Given the description of an element on the screen output the (x, y) to click on. 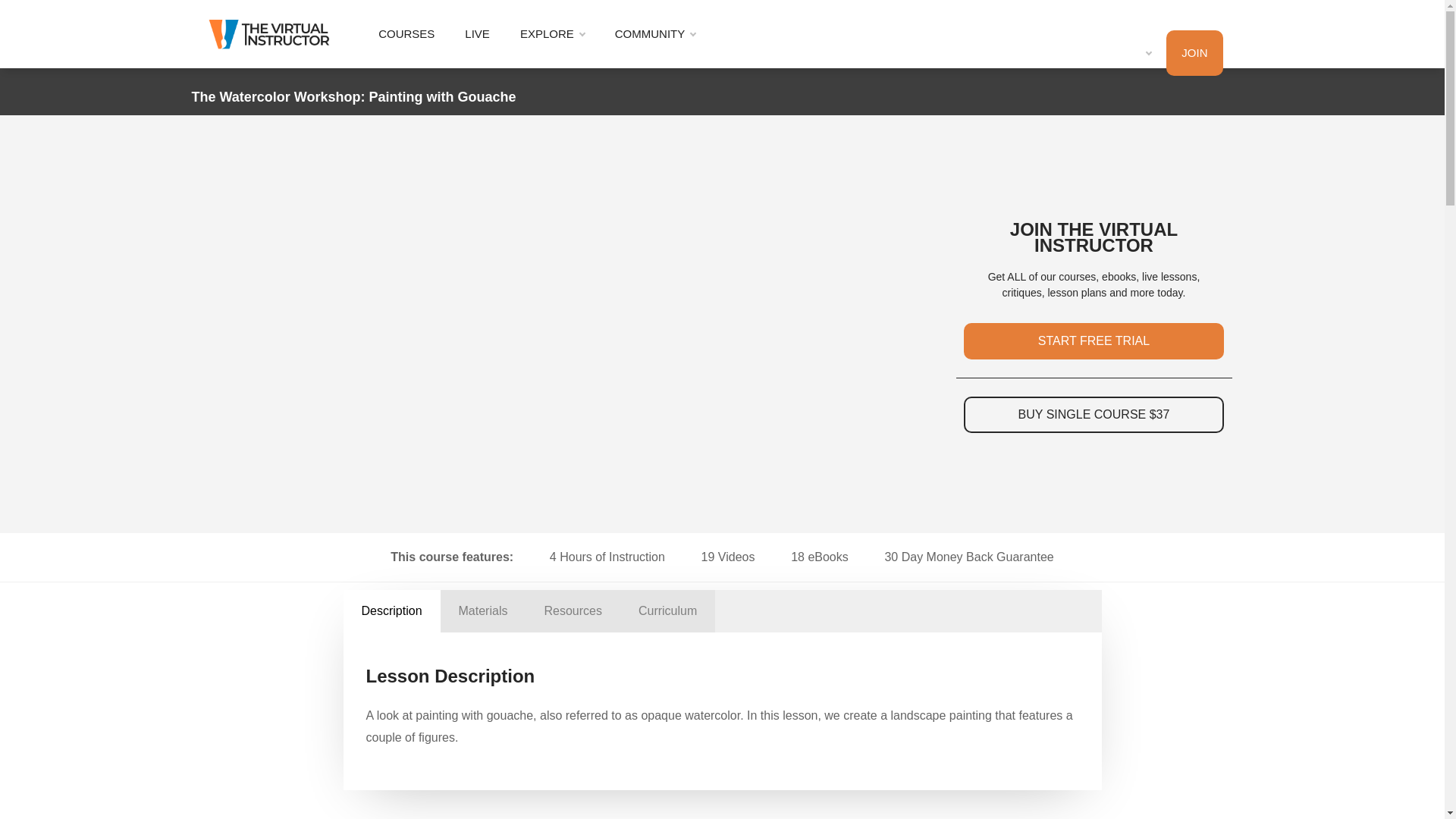
COMMUNITY (655, 33)
JOIN (1194, 53)
EXPLORE (552, 33)
START FREE TRIAL (1093, 340)
COURSES (405, 33)
LIVE (477, 33)
